Given the description of an element on the screen output the (x, y) to click on. 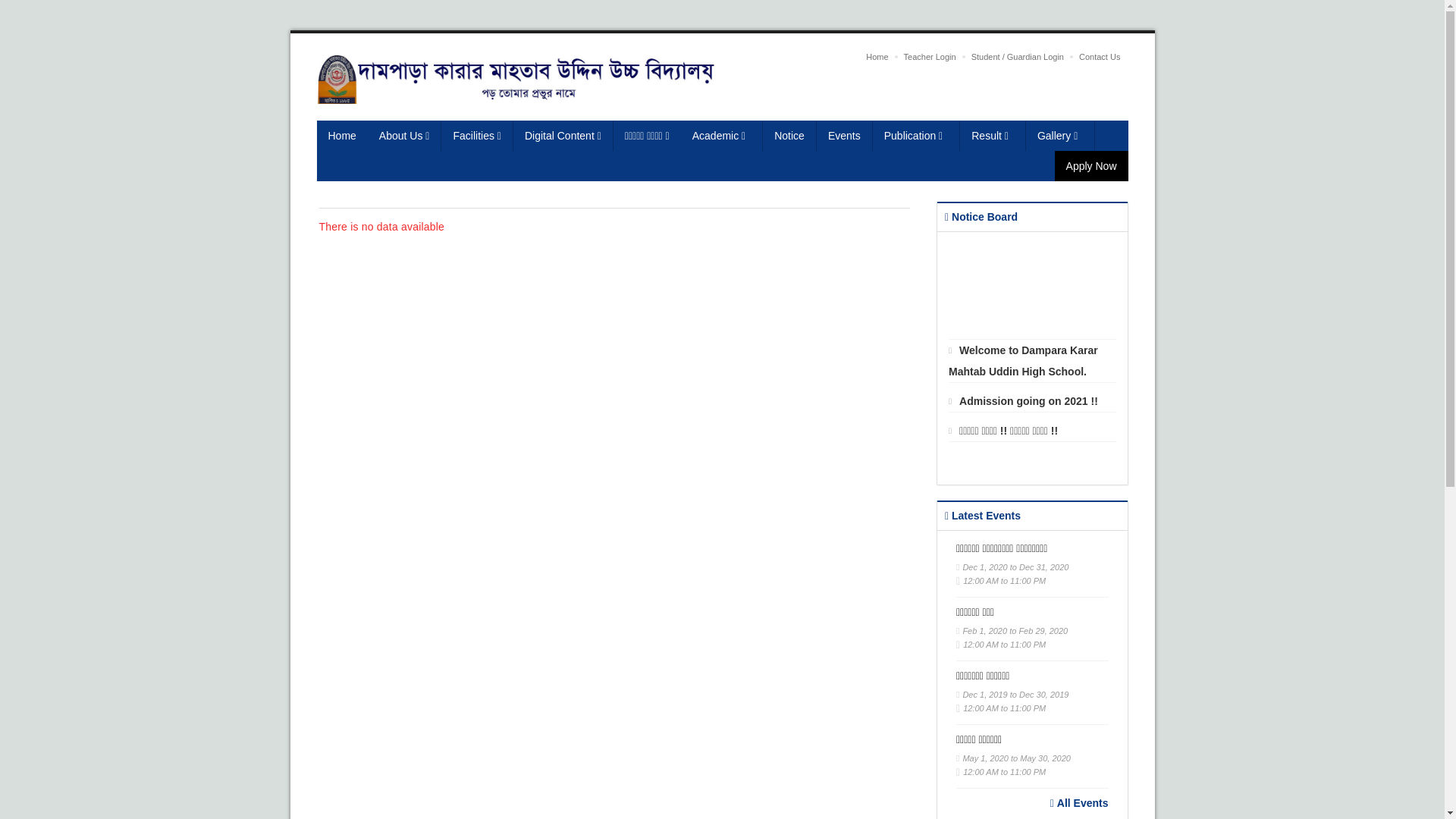
Publication Element type: text (916, 135)
About Us Element type: text (404, 135)
Academic Element type: text (721, 135)
Student / Guardian Login Element type: text (1017, 56)
Events Element type: text (844, 135)
Contact Us Element type: text (1099, 56)
Facilities Element type: text (476, 135)
Result Element type: text (993, 135)
Home Element type: text (876, 56)
Welcome to Dampara Karar Mahtab Uddin High School. Element type: text (1032, 372)
Digital Content Element type: text (563, 135)
Gallery Element type: text (1060, 135)
Notice Element type: text (789, 135)
Teacher Login Element type: text (929, 56)
Home Element type: text (341, 135)
Apply Now Element type: text (1091, 165)
All Events Element type: text (1079, 803)
Admission going on 2021 !! Element type: text (1023, 411)
